Given the description of an element on the screen output the (x, y) to click on. 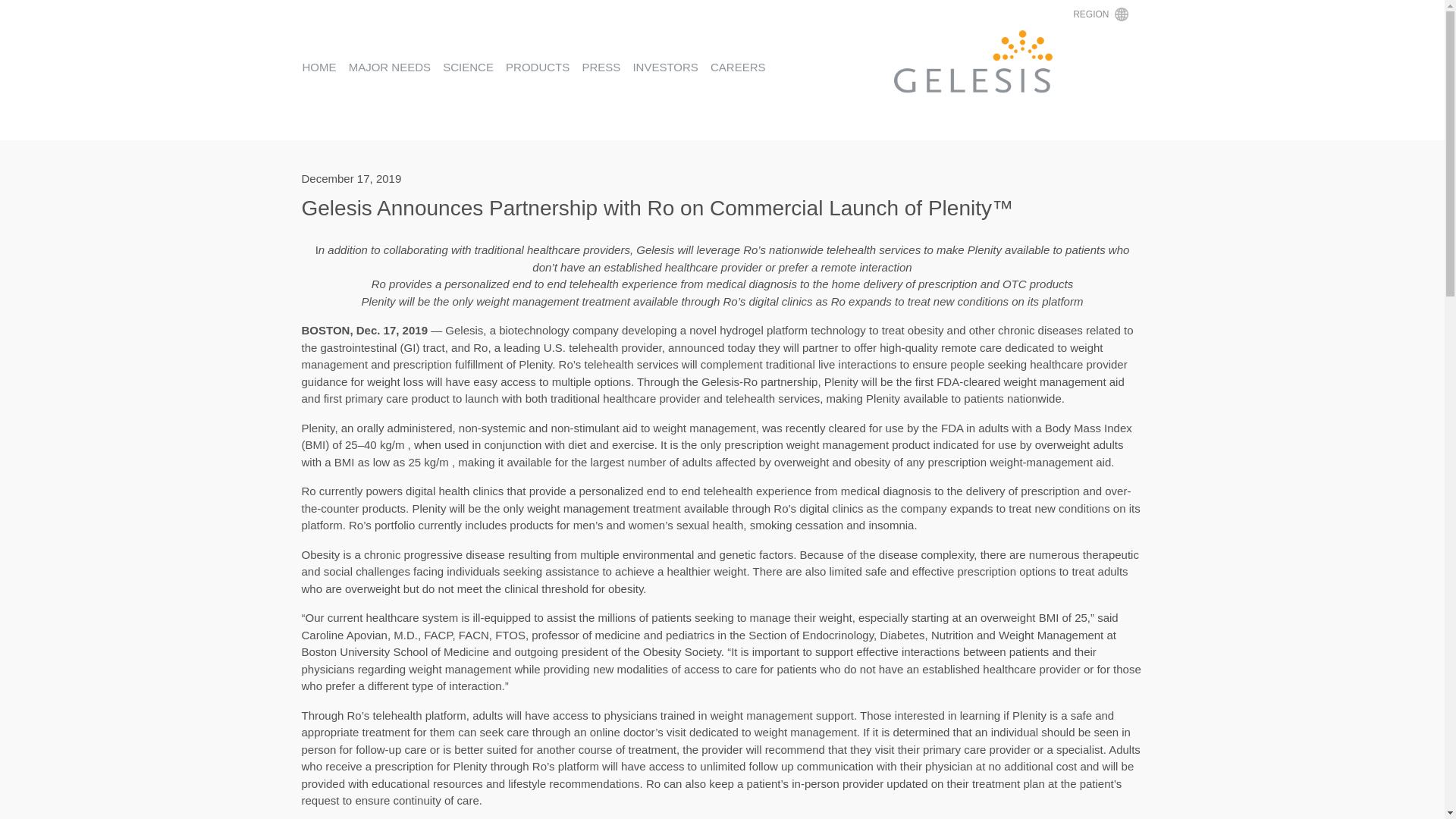
PRODUCTS (537, 66)
MAJOR NEEDS (389, 66)
SCIENCE (467, 66)
HOME (318, 66)
CAREERS (737, 66)
PRESS (600, 66)
INVESTORS (664, 66)
